Given the description of an element on the screen output the (x, y) to click on. 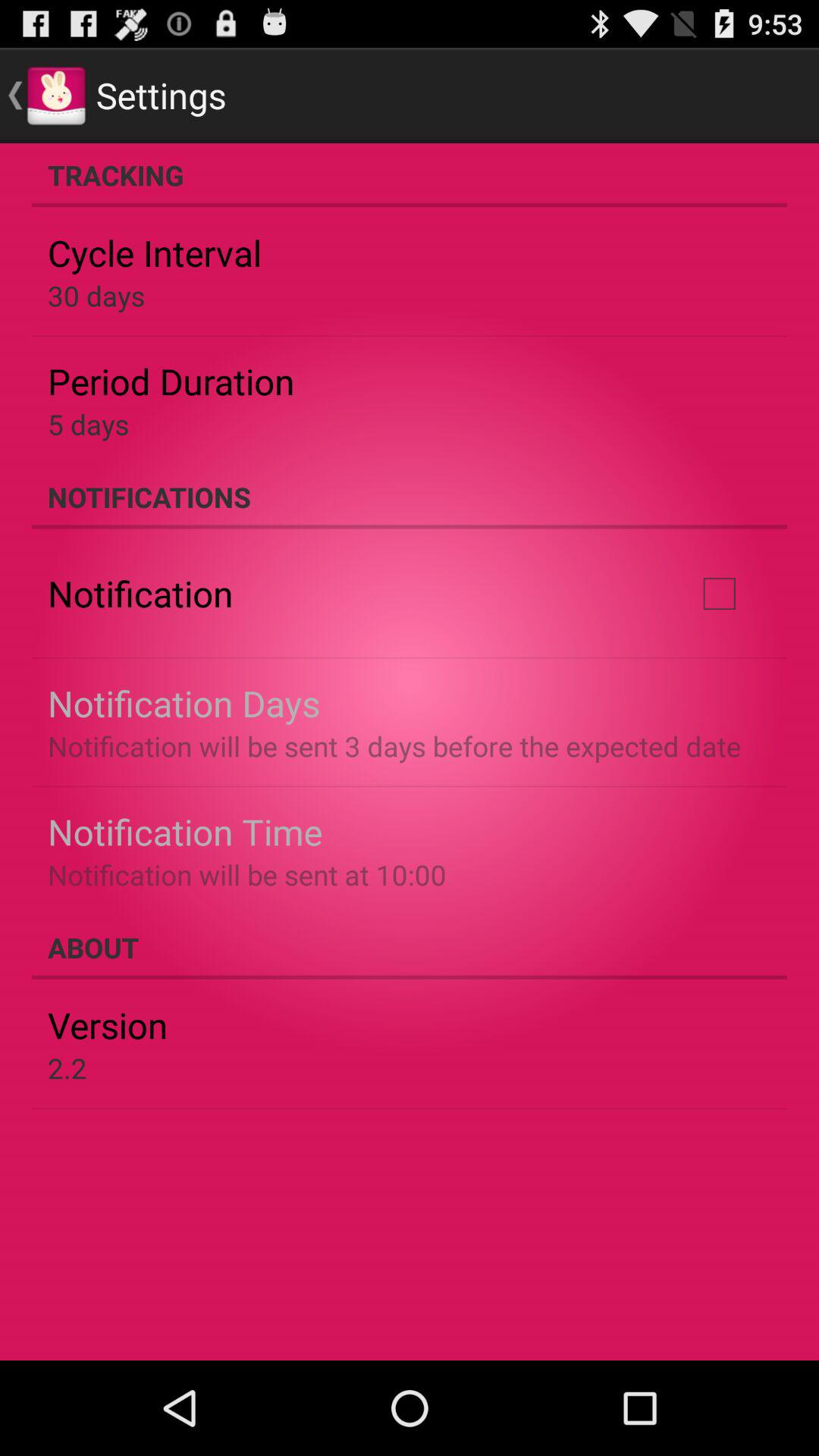
open the item above the version icon (409, 947)
